Given the description of an element on the screen output the (x, y) to click on. 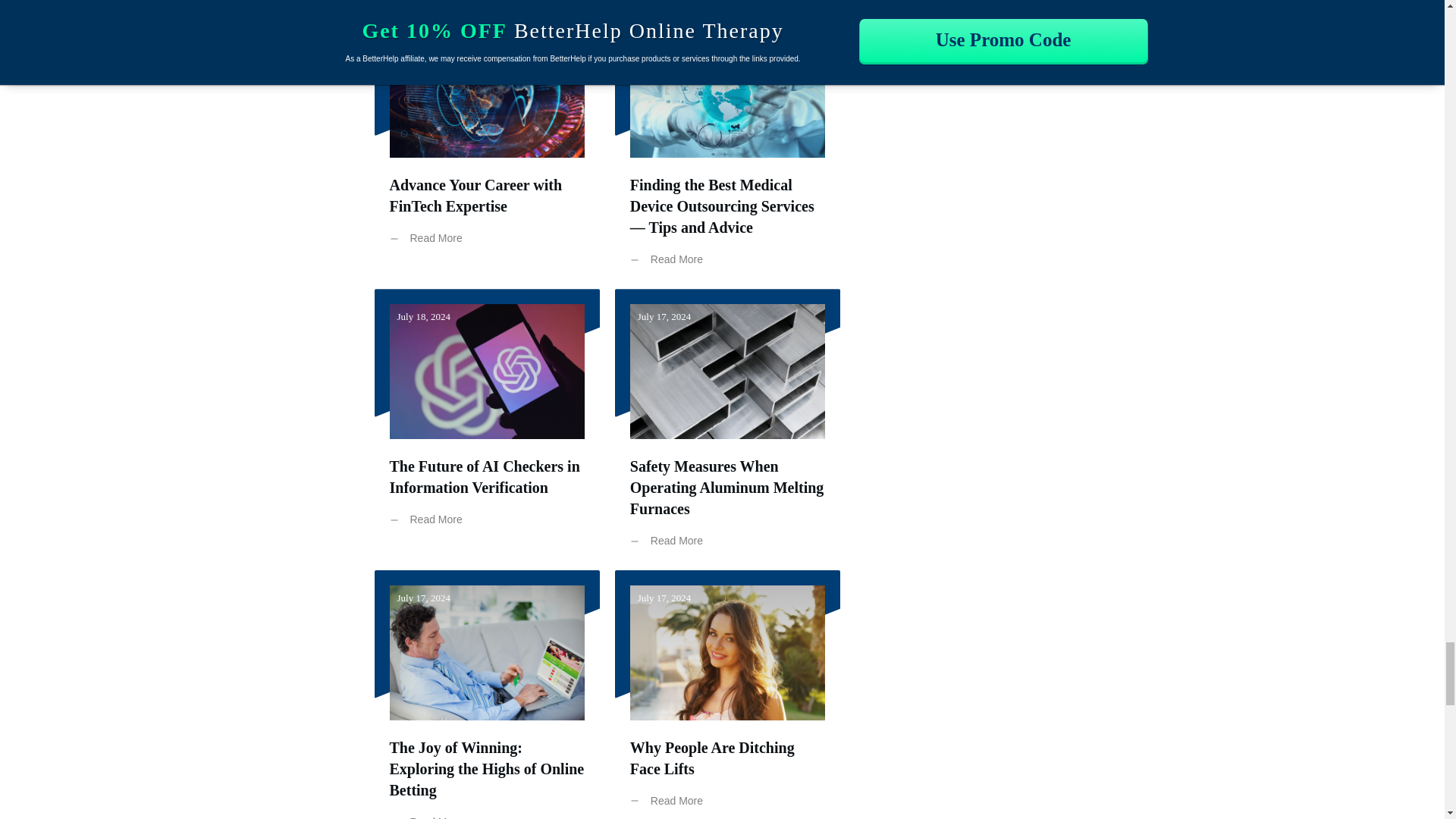
Read More (430, 238)
Safety Measures When Operating Aluminum Melting Furnaces (727, 486)
Advance Your Career with FinTech Expertise (476, 195)
The Joy of Winning: Exploring the Highs of Online Betting (487, 768)
Read More (670, 259)
Advance Your Career with FinTech Expertise (476, 195)
The Future of AI Checkers in Information Verification (484, 476)
Why People Are Ditching Face Lifts (712, 758)
